Given the description of an element on the screen output the (x, y) to click on. 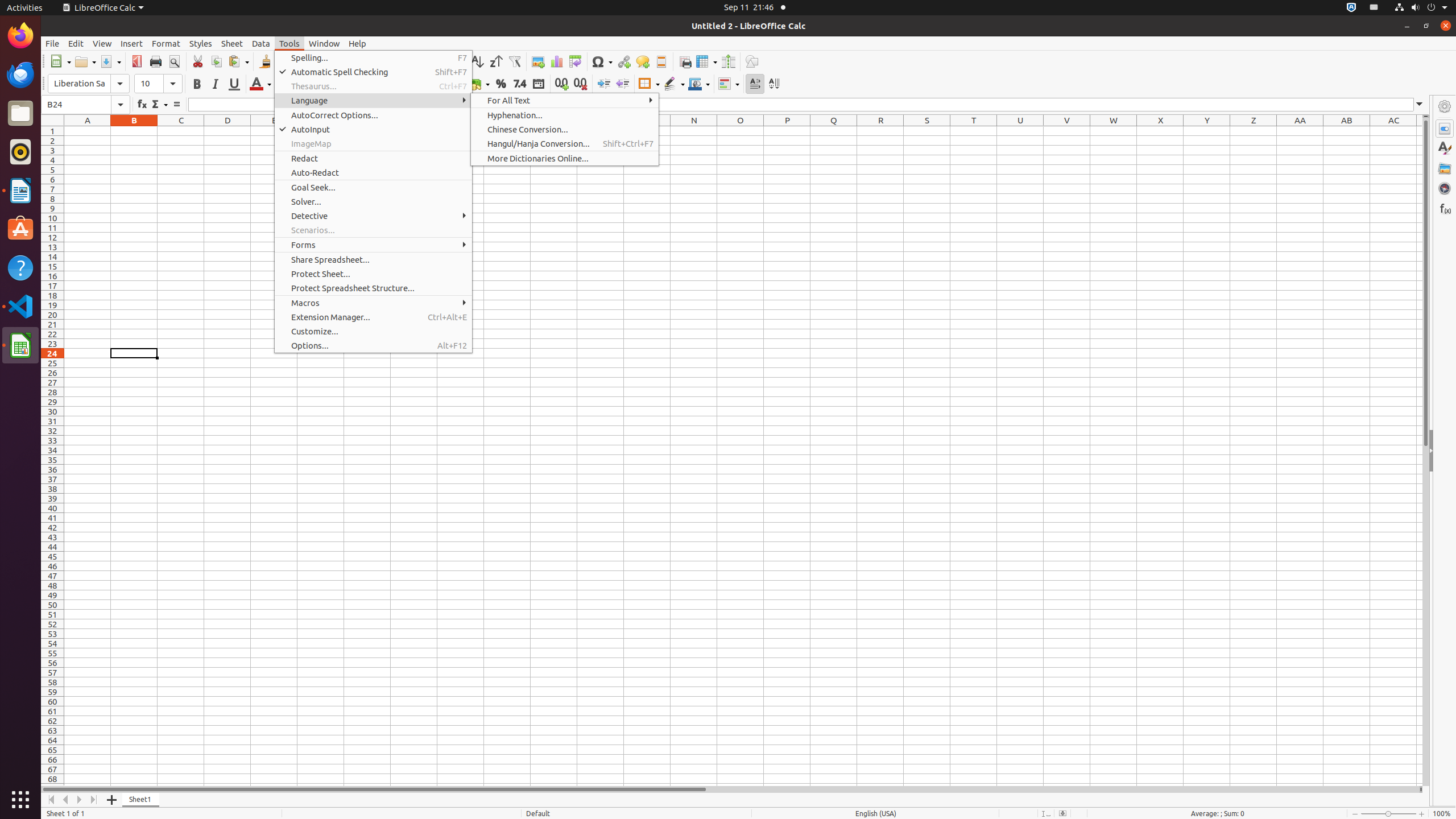
T1 Element type: table-cell (973, 130)
Hangul/Hanja Conversion... Element type: menu-item (564, 143)
Move Right Element type: push-button (79, 799)
